Given the description of an element on the screen output the (x, y) to click on. 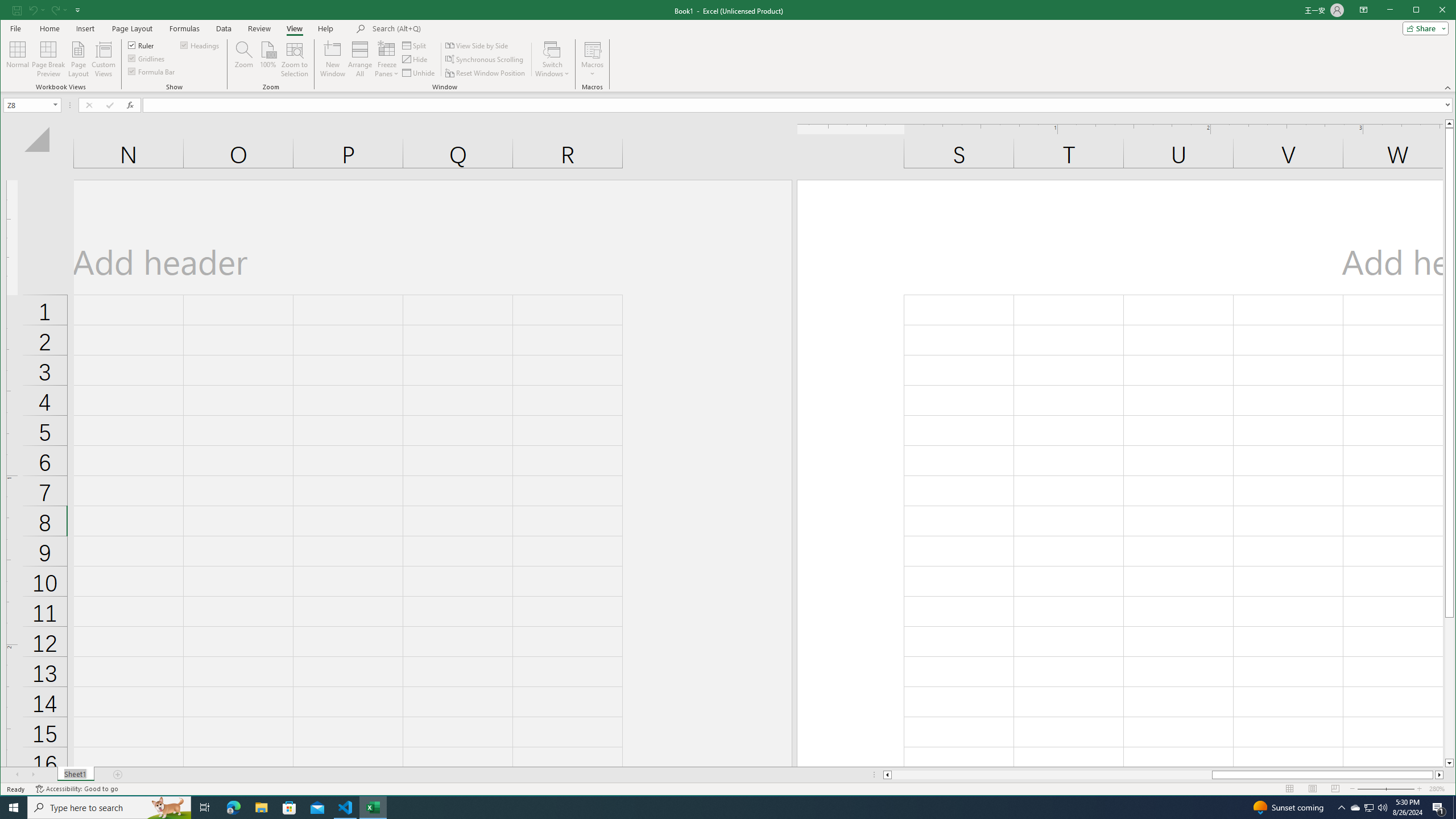
Type here to search (108, 807)
Macros (592, 59)
Hide (415, 59)
Arrange All (360, 59)
Search highlights icon opens search home window (167, 807)
